Given the description of an element on the screen output the (x, y) to click on. 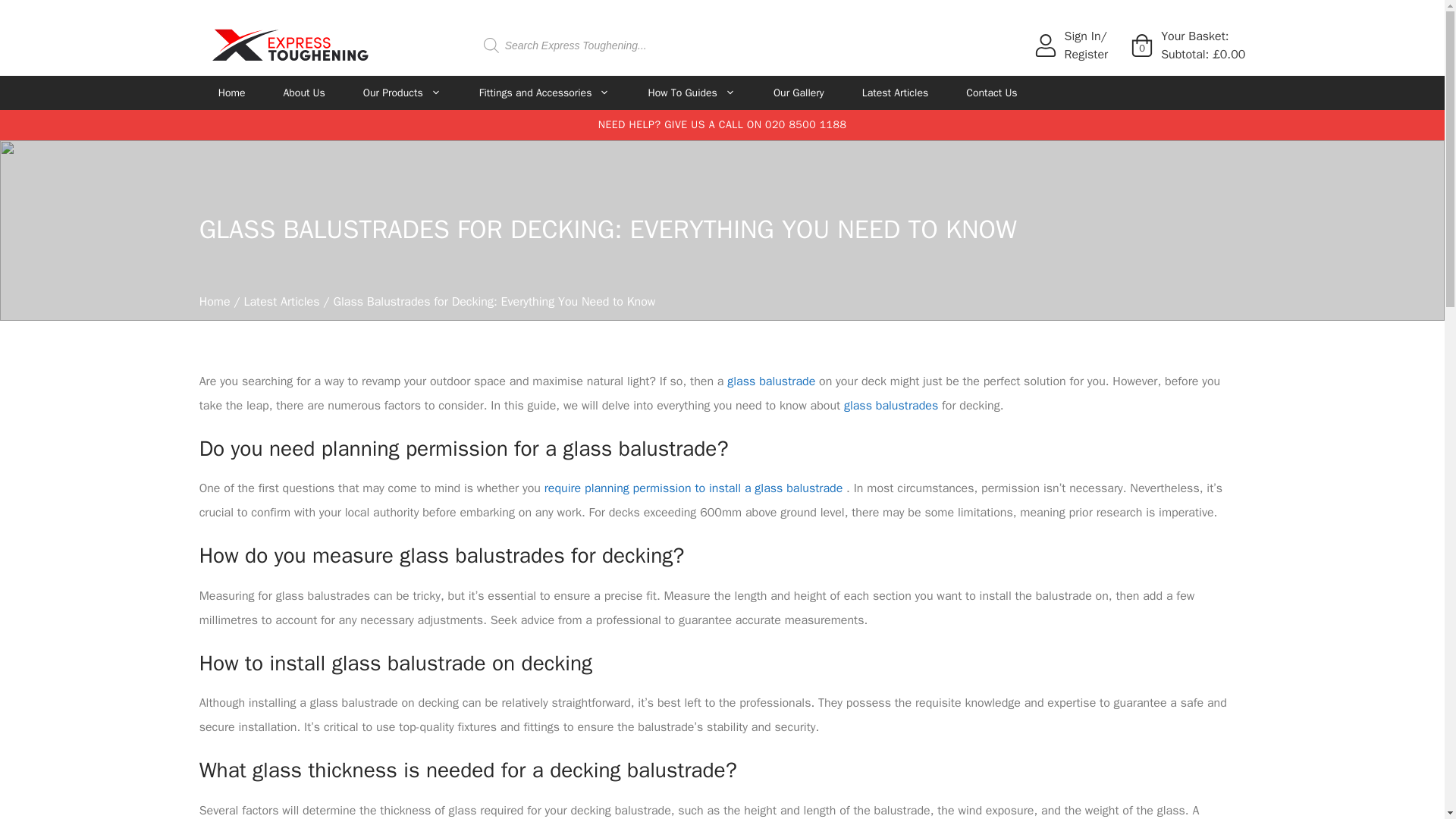
glass balustrade (770, 381)
View your shopping cart (1141, 48)
Express Toughening Ltd (290, 44)
glass balustrades (890, 405)
